Given the description of an element on the screen output the (x, y) to click on. 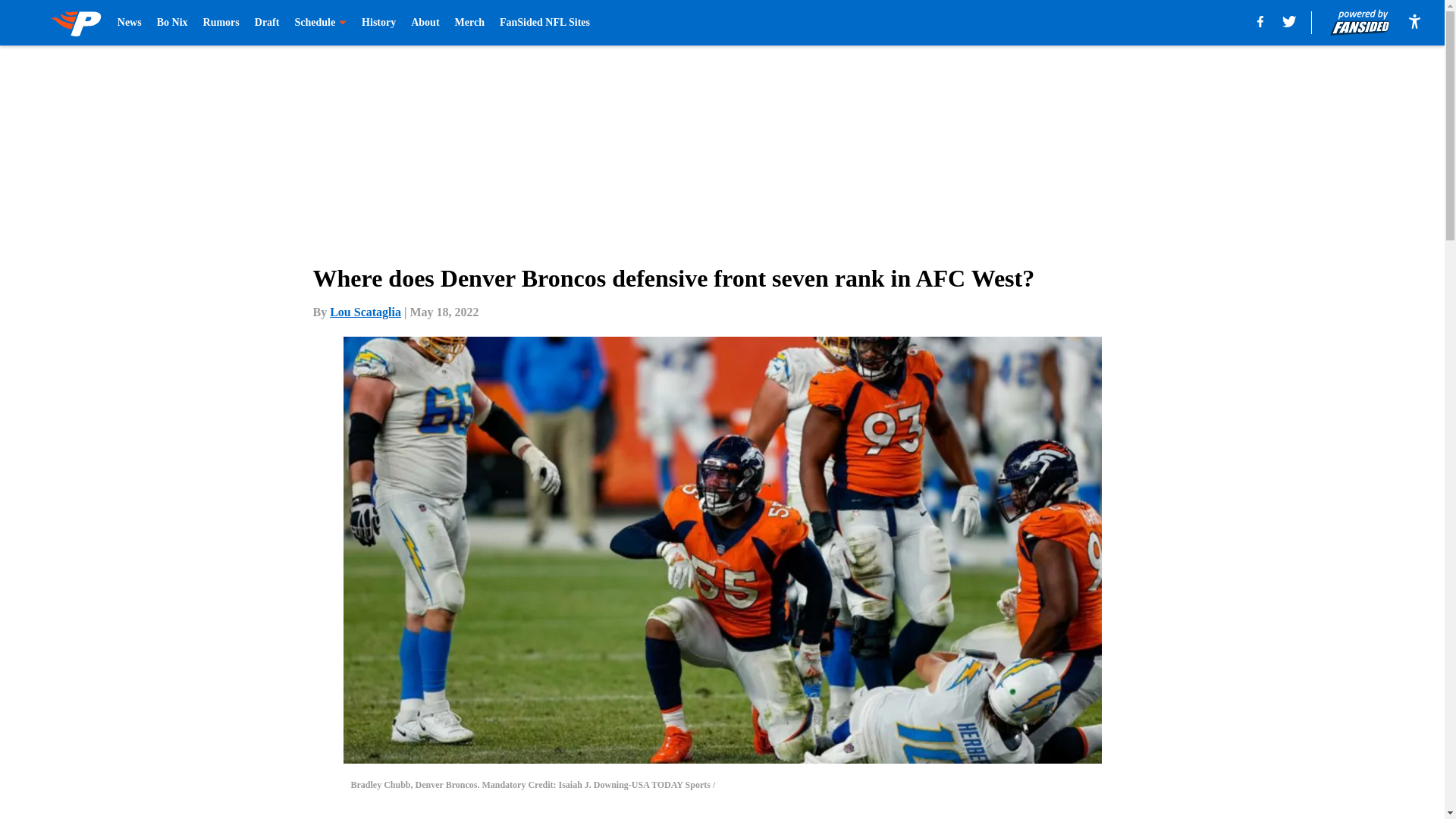
Bo Nix (172, 22)
News (129, 22)
FanSided NFL Sites (544, 22)
Merch (469, 22)
About (424, 22)
Rumors (221, 22)
Draft (266, 22)
History (378, 22)
Lou Scataglia (365, 311)
